Given the description of an element on the screen output the (x, y) to click on. 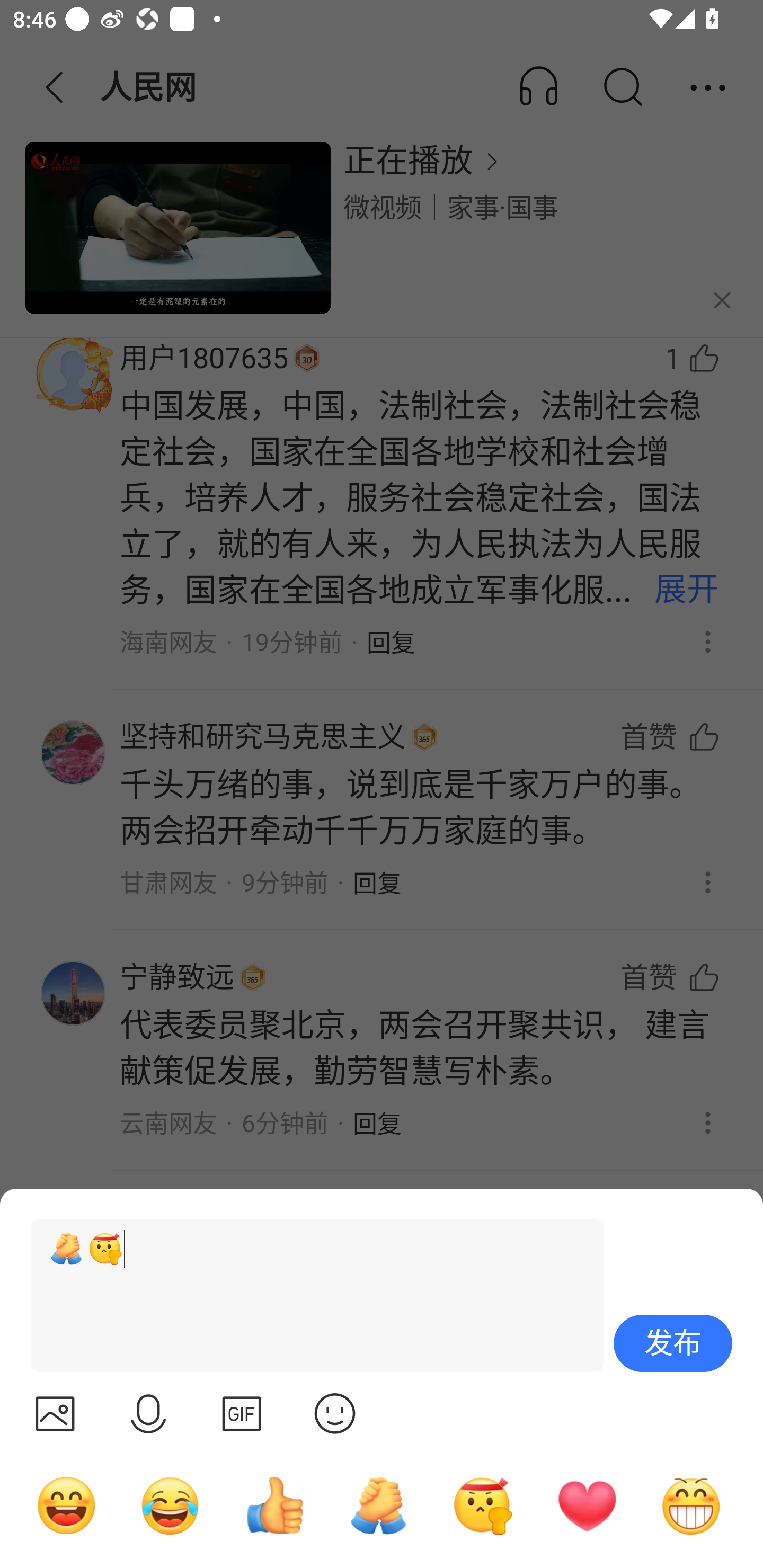
[加油][奋斗] (308, 1295)
发布 (672, 1343)
 (54, 1413)
 (148, 1413)
 (241, 1413)
 (334, 1413)
哈哈 (66, 1505)
哭笑 (170, 1505)
点赞 (274, 1505)
加油 (378, 1505)
奋斗 (482, 1505)
心 (586, 1505)
呲牙 (690, 1505)
